Given the description of an element on the screen output the (x, y) to click on. 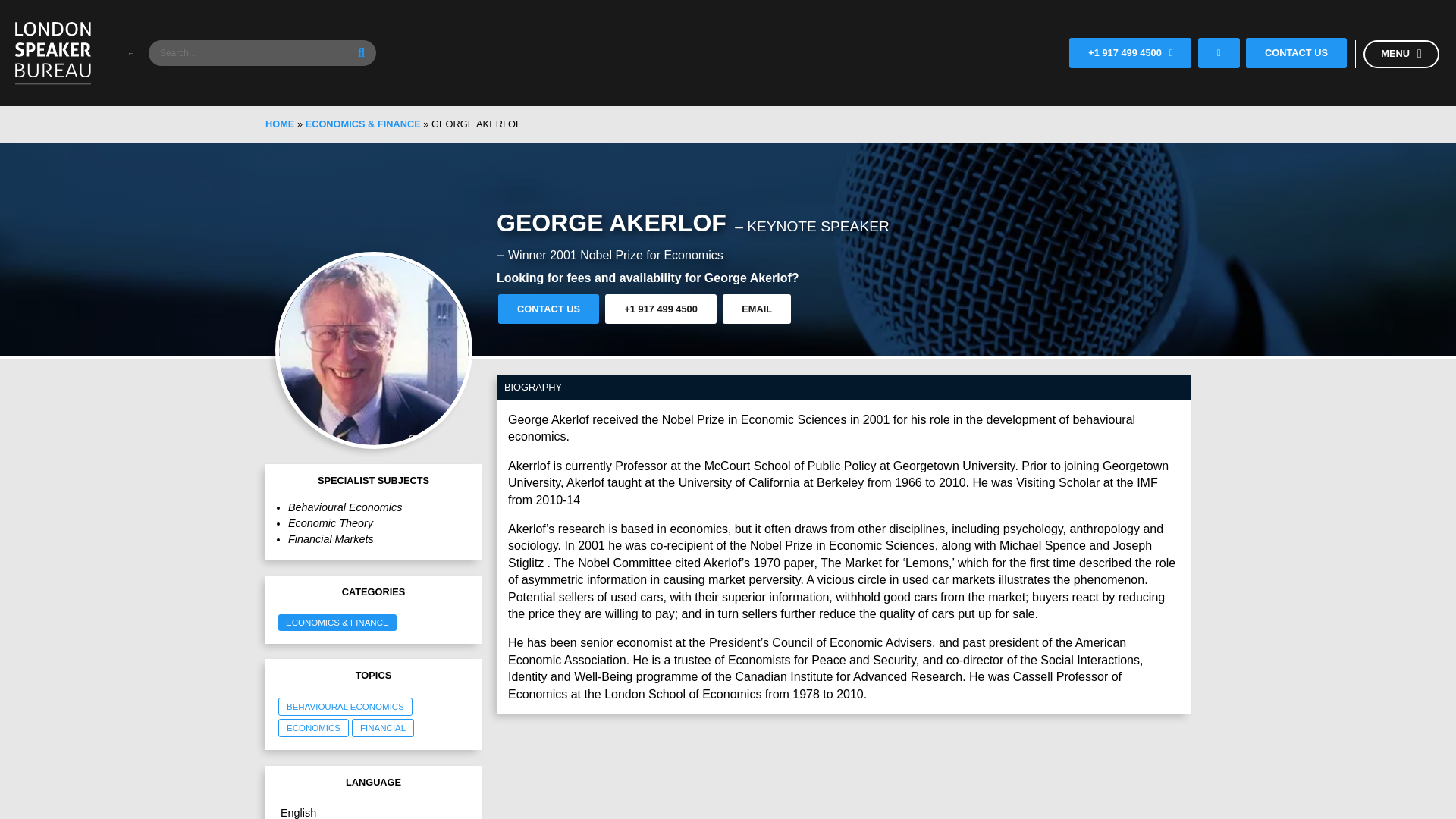
CONTACT US (547, 308)
EMAIL (756, 308)
BEHAVIOURAL ECONOMICS (345, 706)
FINANCIAL (382, 728)
Search for: (261, 53)
CONTACT US (1296, 52)
HOME (279, 123)
ECONOMICS (313, 728)
